Given the description of an element on the screen output the (x, y) to click on. 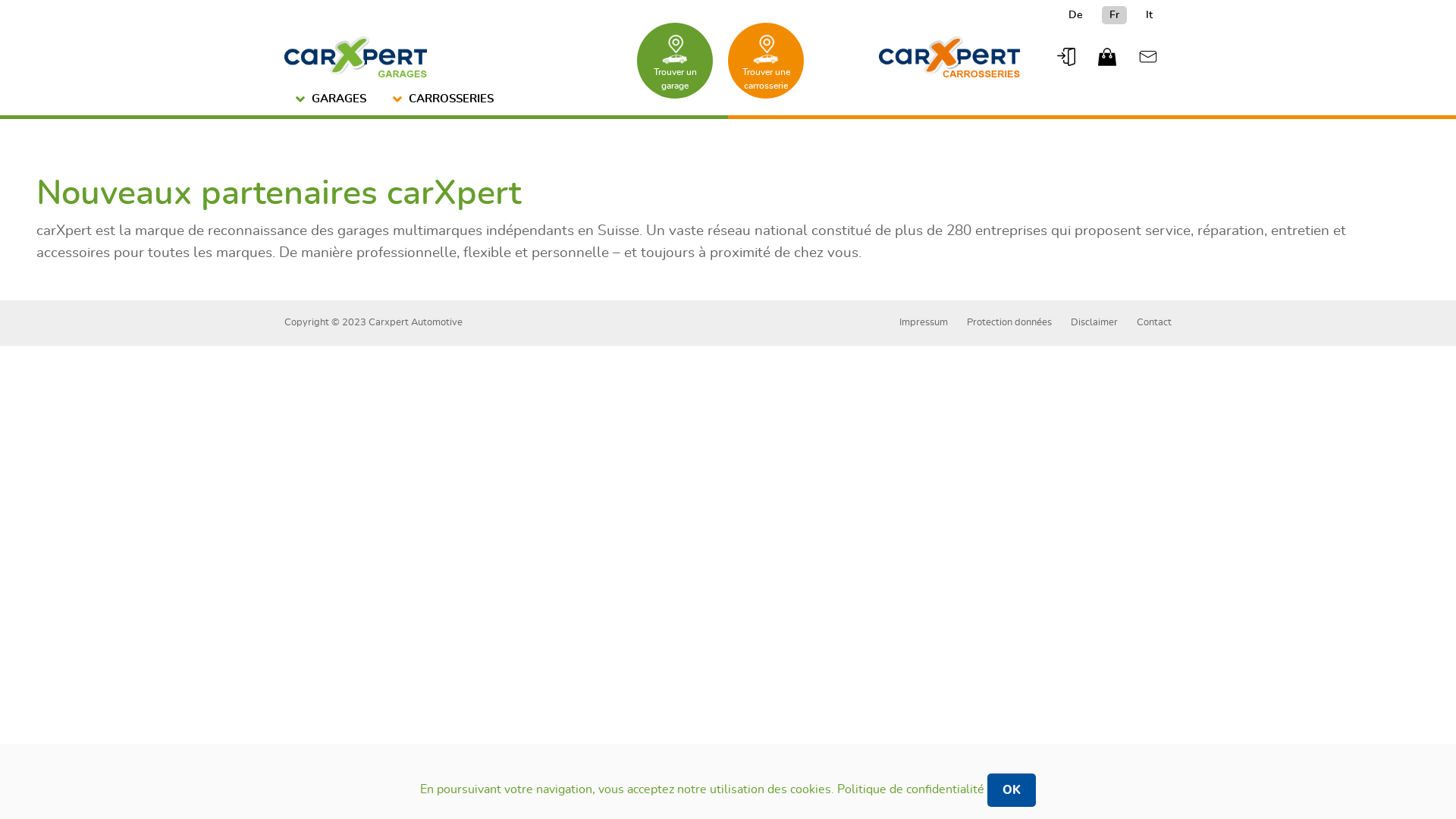
Contact Element type: text (1153, 322)
It Element type: text (1149, 15)
OK Element type: text (1011, 789)
De Element type: text (1075, 15)
Login Element type: text (1066, 56)
Trouver une carrosserie Element type: text (765, 60)
Shop Element type: text (1107, 56)
CARROSSERIES Element type: text (444, 99)
Fr Element type: text (1113, 15)
GARAGES Element type: text (332, 99)
Disclaimer Element type: text (1093, 322)
Impressum Element type: text (923, 322)
Trouver un garage Element type: text (674, 60)
Contact Element type: text (1148, 56)
